Given the description of an element on the screen output the (x, y) to click on. 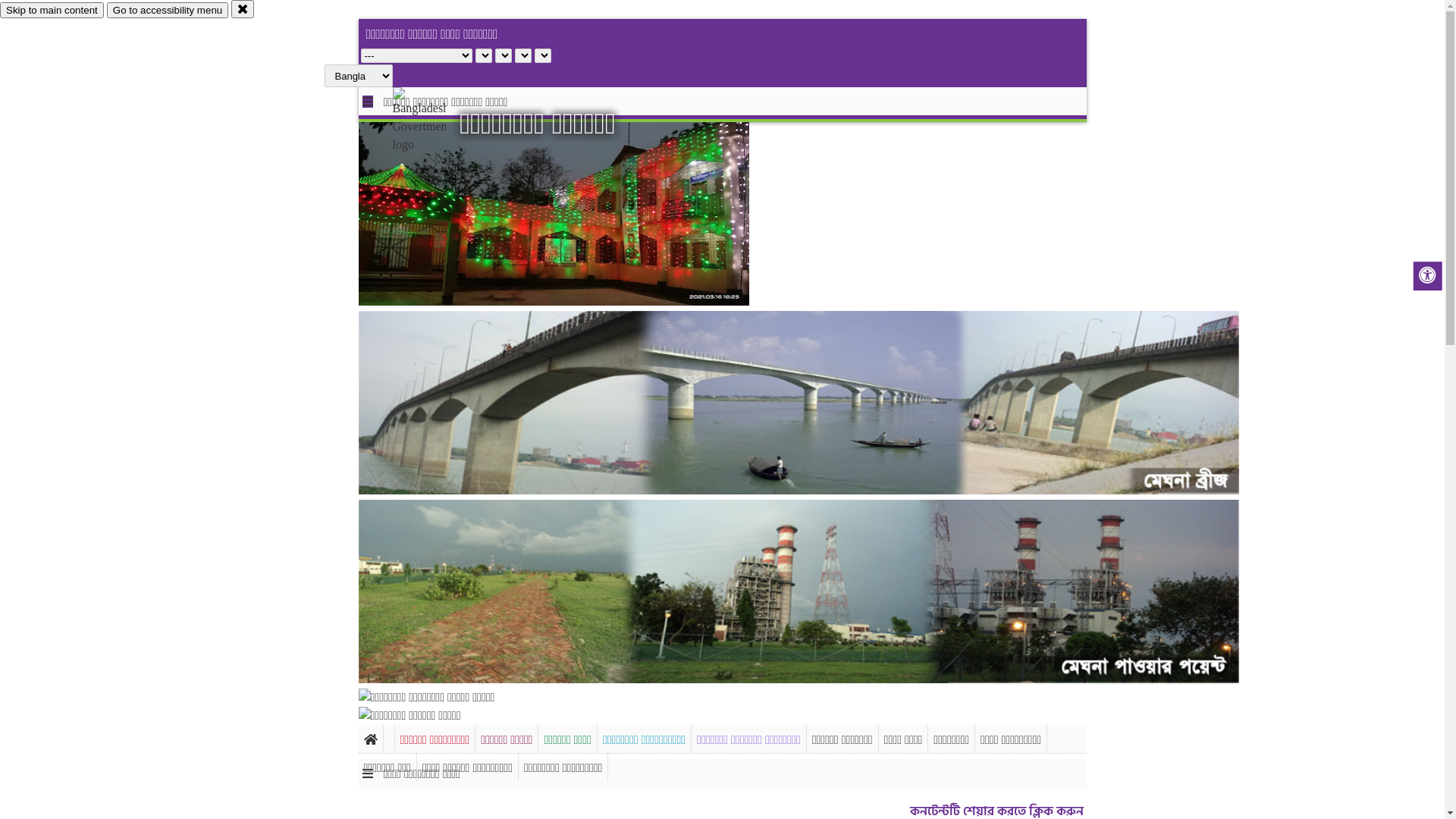
Go to accessibility menu Element type: text (167, 10)
close Element type: hover (242, 9)

                
             Element type: hover (431, 120)
Skip to main content Element type: text (51, 10)
